Given the description of an element on the screen output the (x, y) to click on. 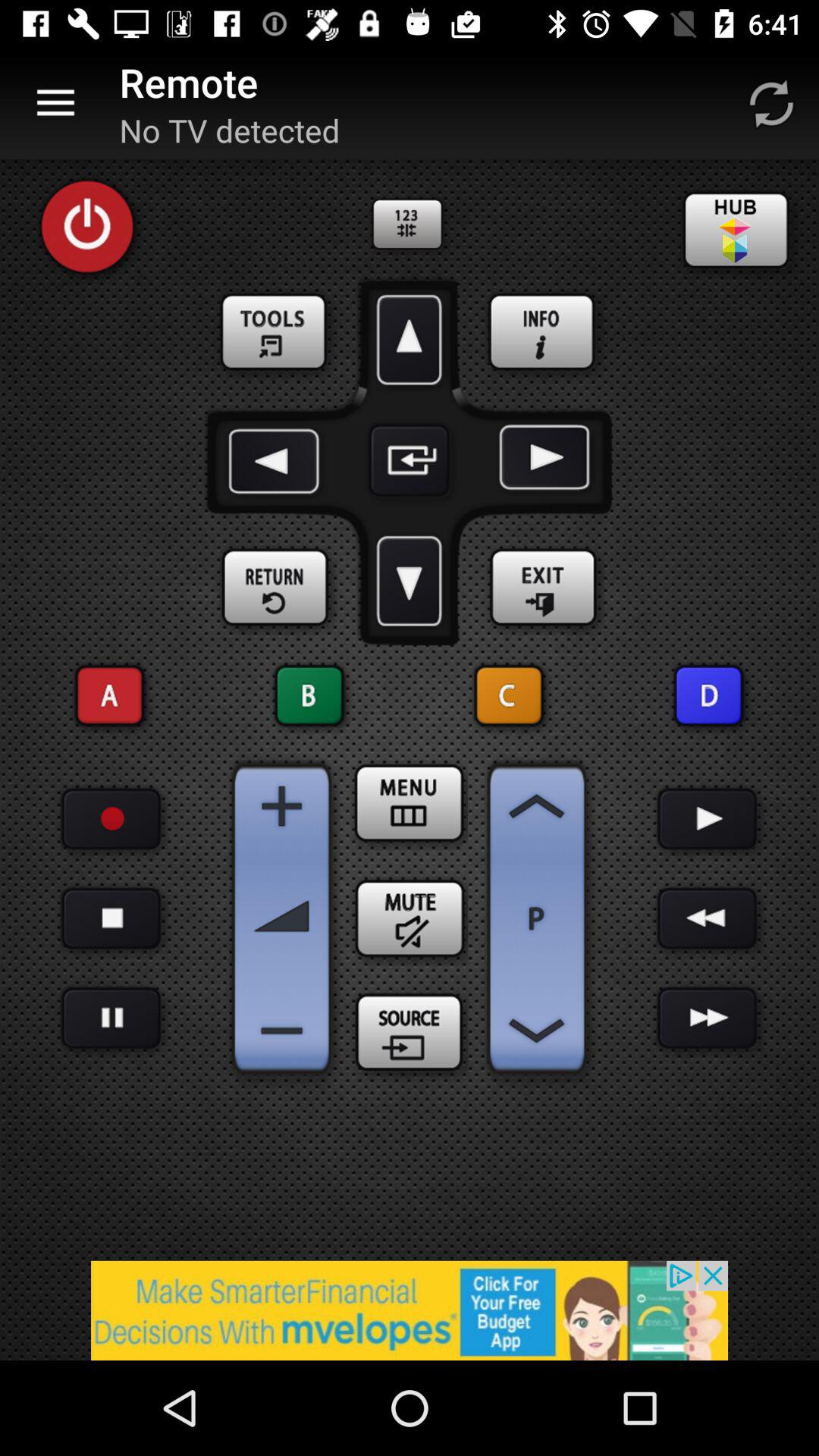
play (707, 819)
